Given the description of an element on the screen output the (x, y) to click on. 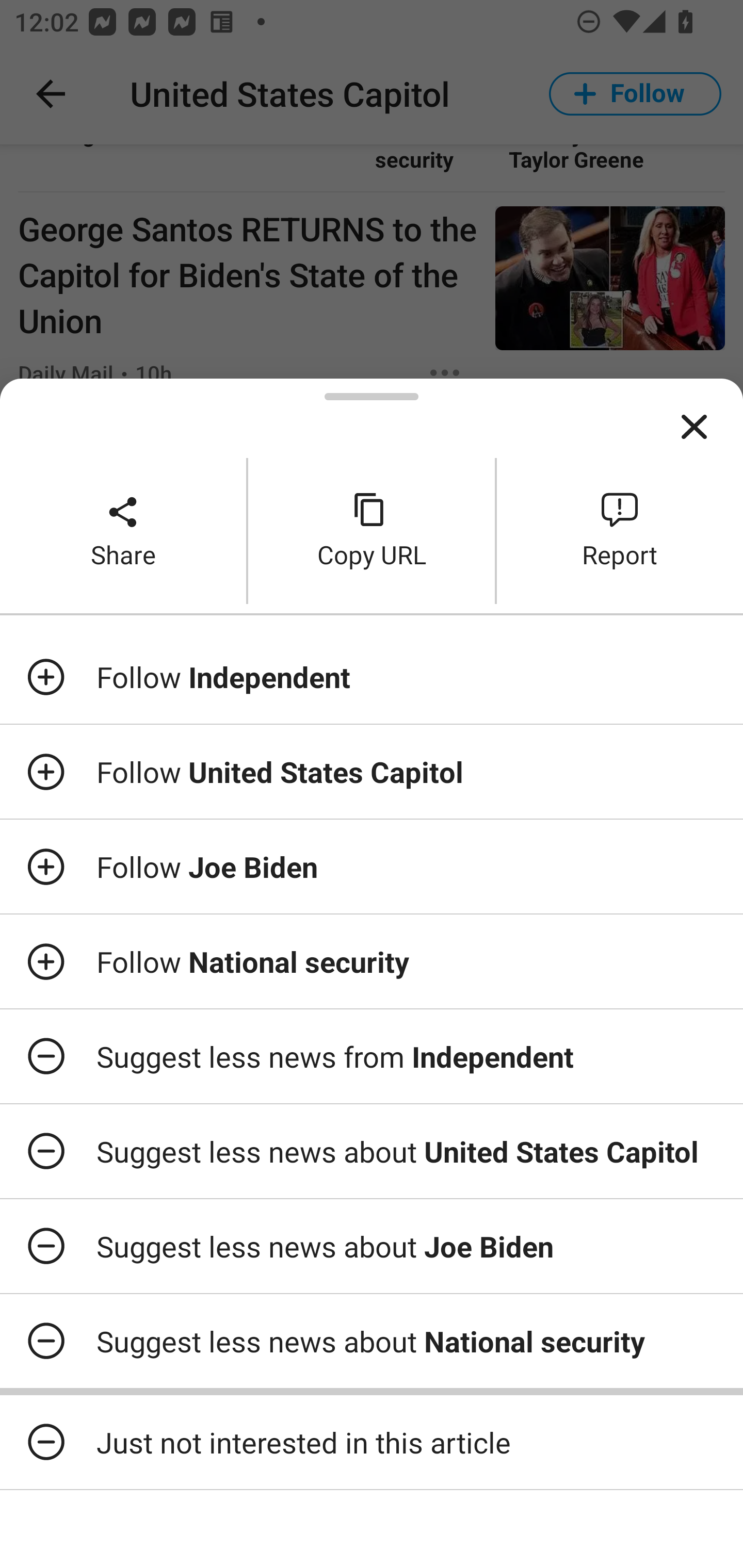
Close (694, 426)
Share (122, 530)
Copy URL (371, 530)
Report (620, 530)
Follow Independent (371, 677)
Follow United States Capitol (371, 771)
Follow Joe Biden (371, 867)
Follow National security (371, 961)
Suggest less news from Independent (371, 1056)
Suggest less news about United States Capitol (371, 1150)
Suggest less news about Joe Biden (371, 1246)
Suggest less news about National security (371, 1340)
Just not interested in this article (371, 1442)
